Given the description of an element on the screen output the (x, y) to click on. 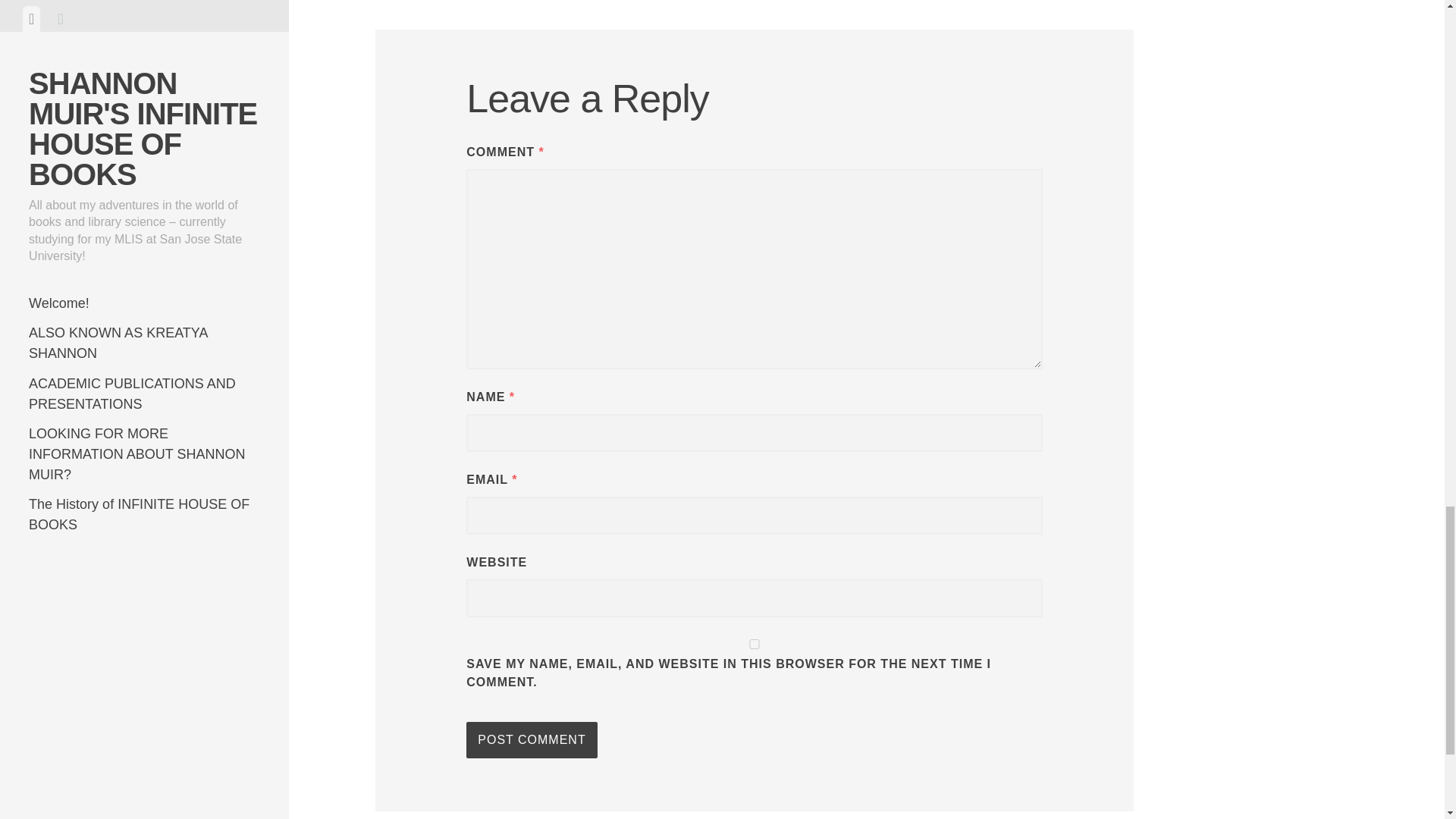
Post Comment (530, 739)
Post Comment (530, 739)
yes (753, 644)
